Given the description of an element on the screen output the (x, y) to click on. 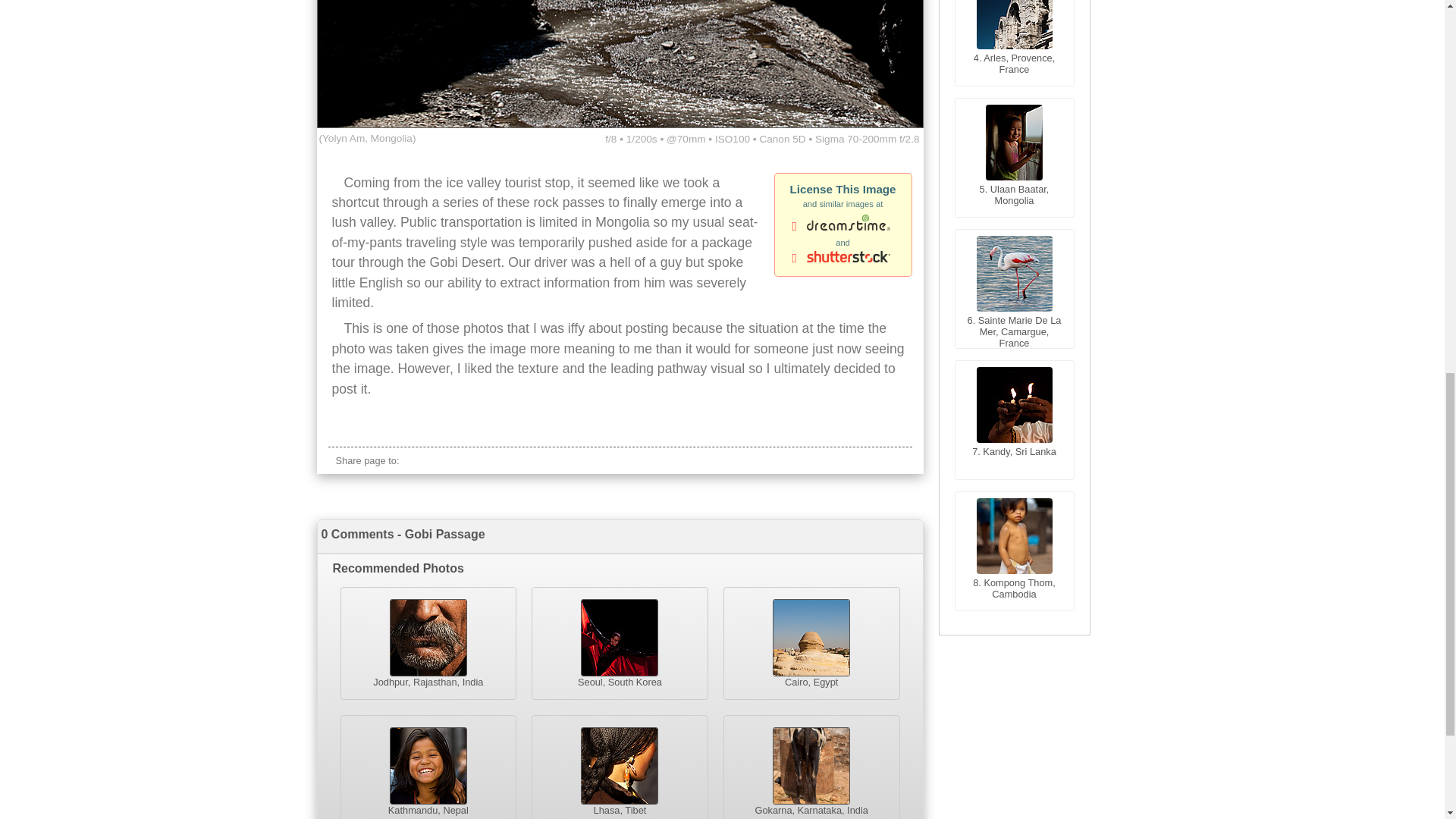
6. Sainte Marie De La Mer, Camargue, France (1013, 288)
License this image at Dramstime Stock Image Agency (842, 226)
License this image at Shutterstock Stock Image Agency (842, 258)
Jodhpur, Rajasthan, India (427, 643)
7. Kandy, Sri Lanka (1013, 419)
Lhasa, Tibet (619, 766)
5. Ulaan Baatar, Mongolia (1013, 157)
4. Arles, Provence, France (1013, 43)
Cairo, Egypt (811, 643)
Seoul, South Korea (619, 643)
Kathmandu, Nepal (427, 766)
8. Kompong Thom, Cambodia (1013, 550)
Gokarna, Karnataka, India (811, 766)
